Given the description of an element on the screen output the (x, y) to click on. 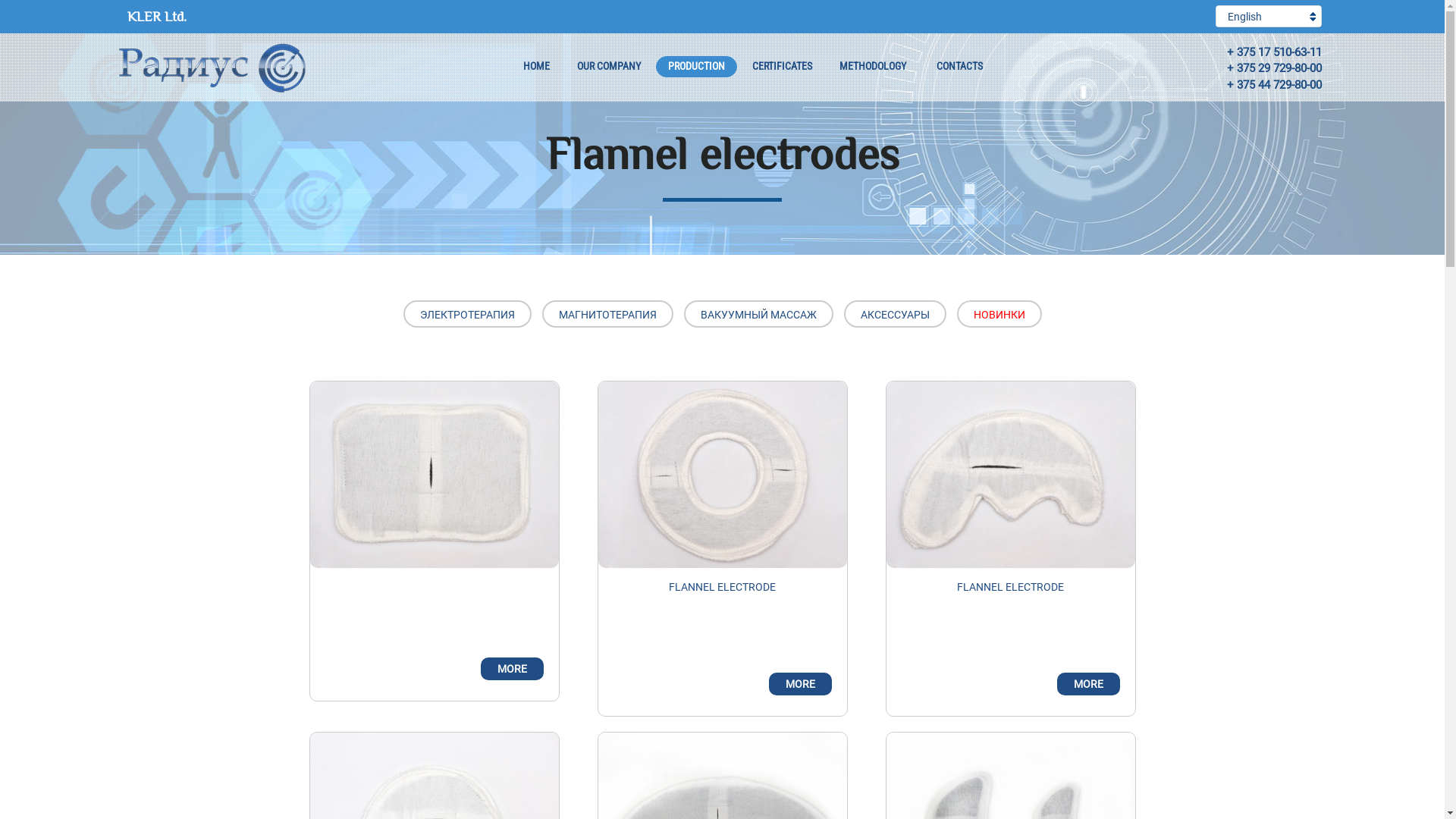
CONTACTS Element type: text (958, 66)
MORE Element type: text (799, 683)
MORE Element type: text (511, 668)
CERTIFICATES Element type: text (782, 66)
METHODOLOGY Element type: text (871, 66)
OUR COMPANY Element type: text (608, 66)
MORE Element type: text (1088, 683)
FLANNEL ELECTRODE Element type: text (721, 580)
HOME Element type: text (536, 66)
PRODUCTION Element type: text (695, 66)
English Element type: text (1268, 16)
FLANNEL ELECTRODE Element type: text (1009, 580)
